Given the description of an element on the screen output the (x, y) to click on. 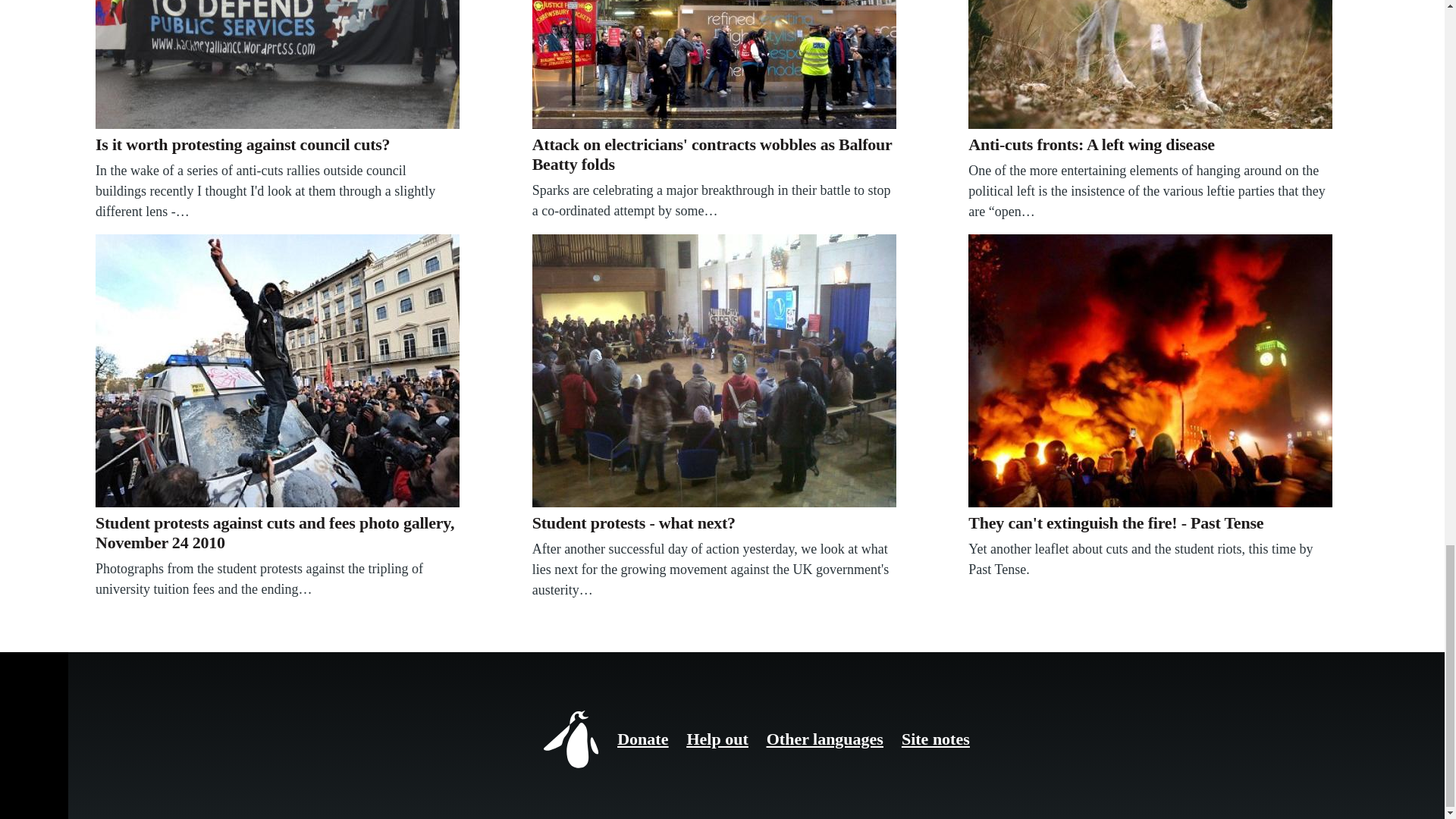
Site notes (935, 738)
libcom content in languages other than English (825, 738)
Occupation in Nottingham (714, 370)
Donate (642, 738)
Students target an abandoned police van (278, 370)
Help out (716, 738)
Other languages (825, 738)
